Given the description of an element on the screen output the (x, y) to click on. 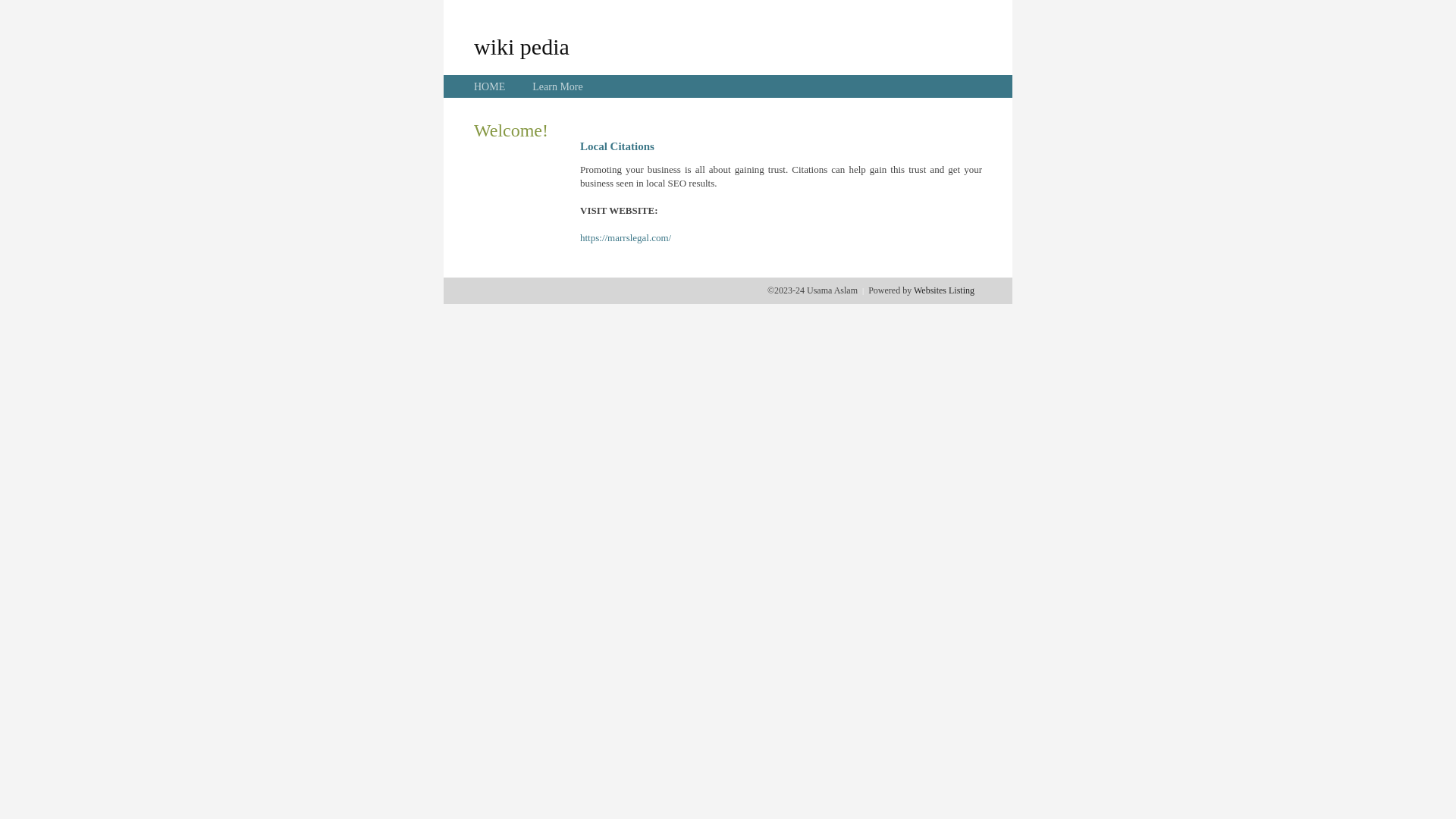
https://marrslegal.com/ Element type: text (625, 237)
wiki pedia Element type: text (521, 46)
Websites Listing Element type: text (943, 290)
Learn More Element type: text (557, 86)
HOME Element type: text (489, 86)
